Given the description of an element on the screen output the (x, y) to click on. 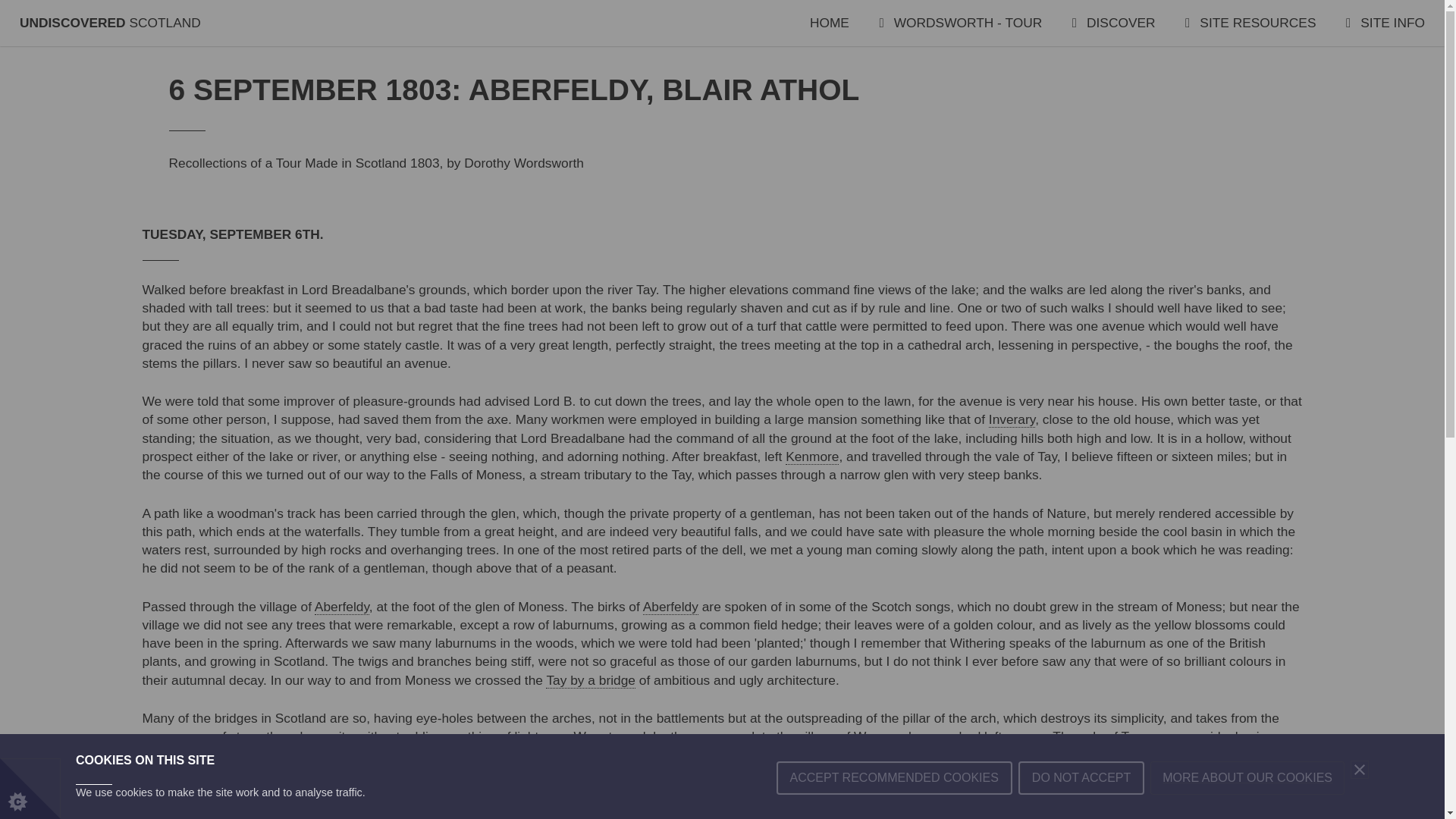
MORE ABOUT OUR COOKIES (1246, 808)
HOME (828, 22)
DO NOT ACCEPT (1080, 815)
UNDISCOVERED SCOTLAND (110, 22)
WORDSWORTH - TOUR (960, 22)
